Given the description of an element on the screen output the (x, y) to click on. 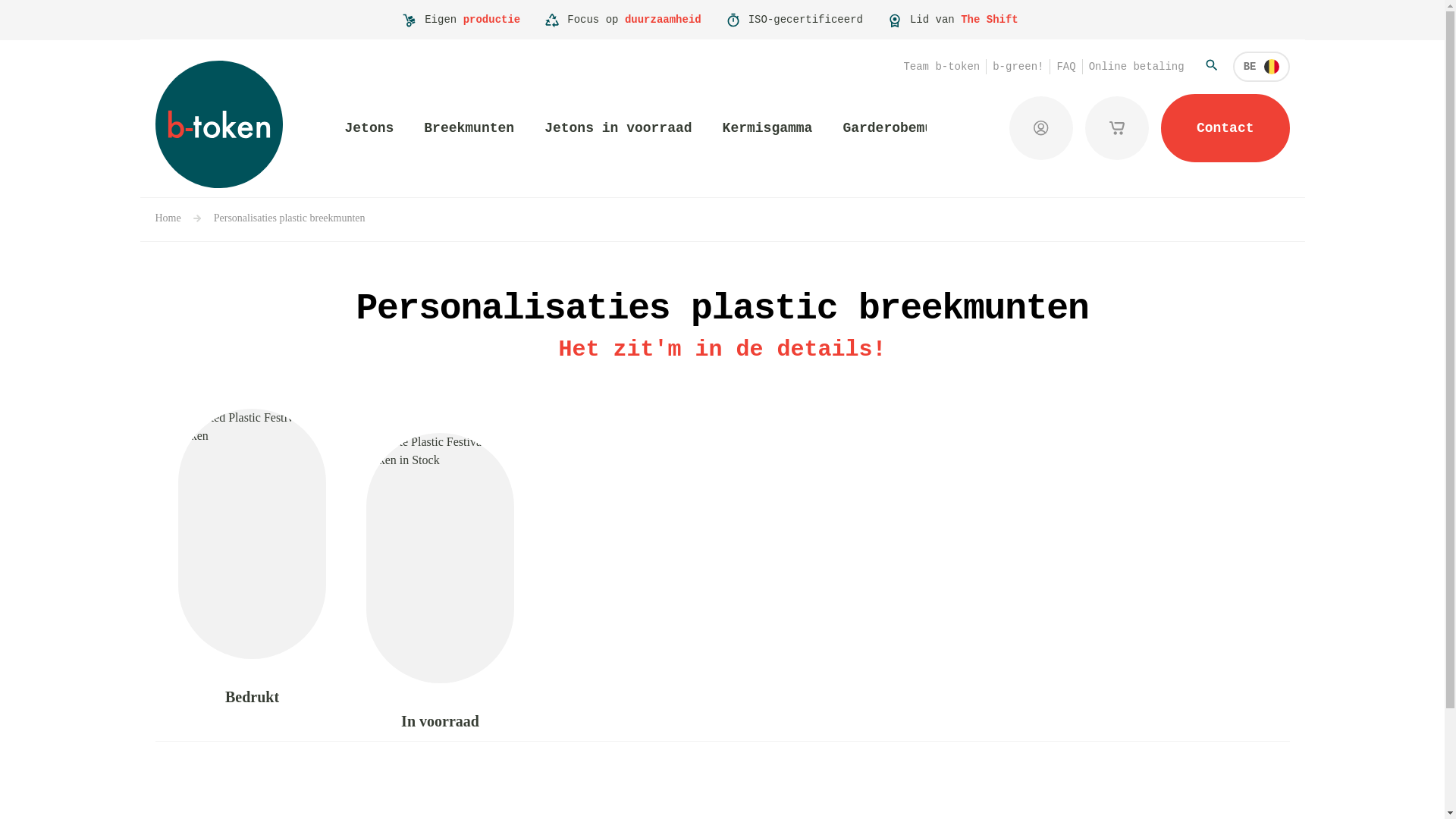
Online betaling Element type: text (1136, 66)
In voorraad Element type: text (439, 583)
Zoeken Element type: text (1211, 64)
Kermisgamma Element type: text (767, 127)
Aanmelden Element type: text (1041, 128)
Mijn opgeslagen winkelmandjes Element type: text (1116, 128)
Bedrukt Element type: text (251, 559)
FAQ Element type: text (1065, 66)
BE Element type: text (1261, 66)
Garderobemunten Element type: text (903, 127)
Breekmunten Element type: text (468, 127)
Jetons Element type: text (368, 127)
Home Element type: text (167, 217)
Team b-token Element type: text (941, 66)
b-green! Element type: text (1017, 66)
Personalisaties plastic breekmunten Element type: text (289, 217)
Jetons in voorraad Element type: text (617, 127)
Contact Element type: text (1225, 128)
